Given the description of an element on the screen output the (x, y) to click on. 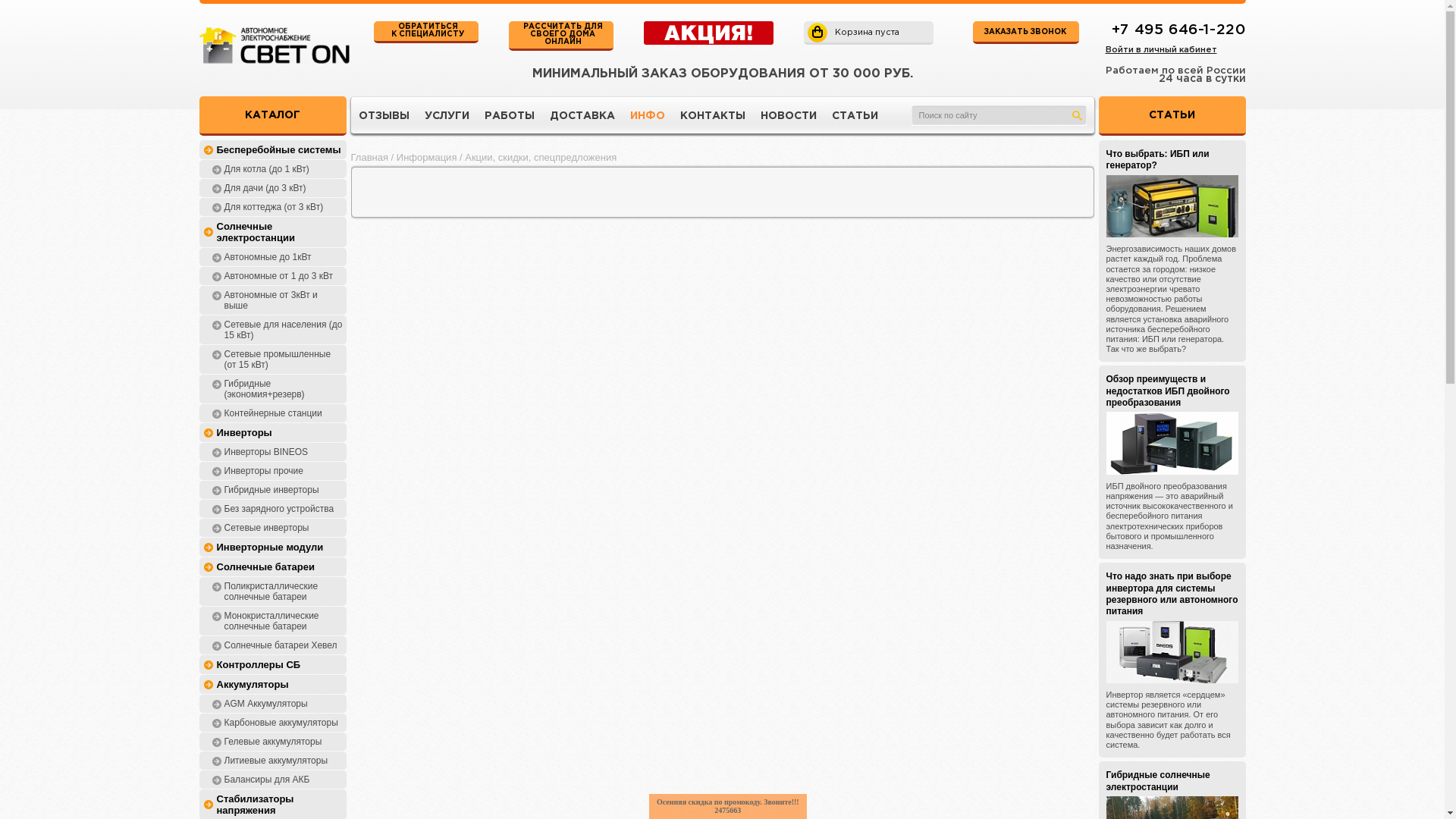
+7 495 646-1-220 Element type: text (1178, 29)
